Given the description of an element on the screen output the (x, y) to click on. 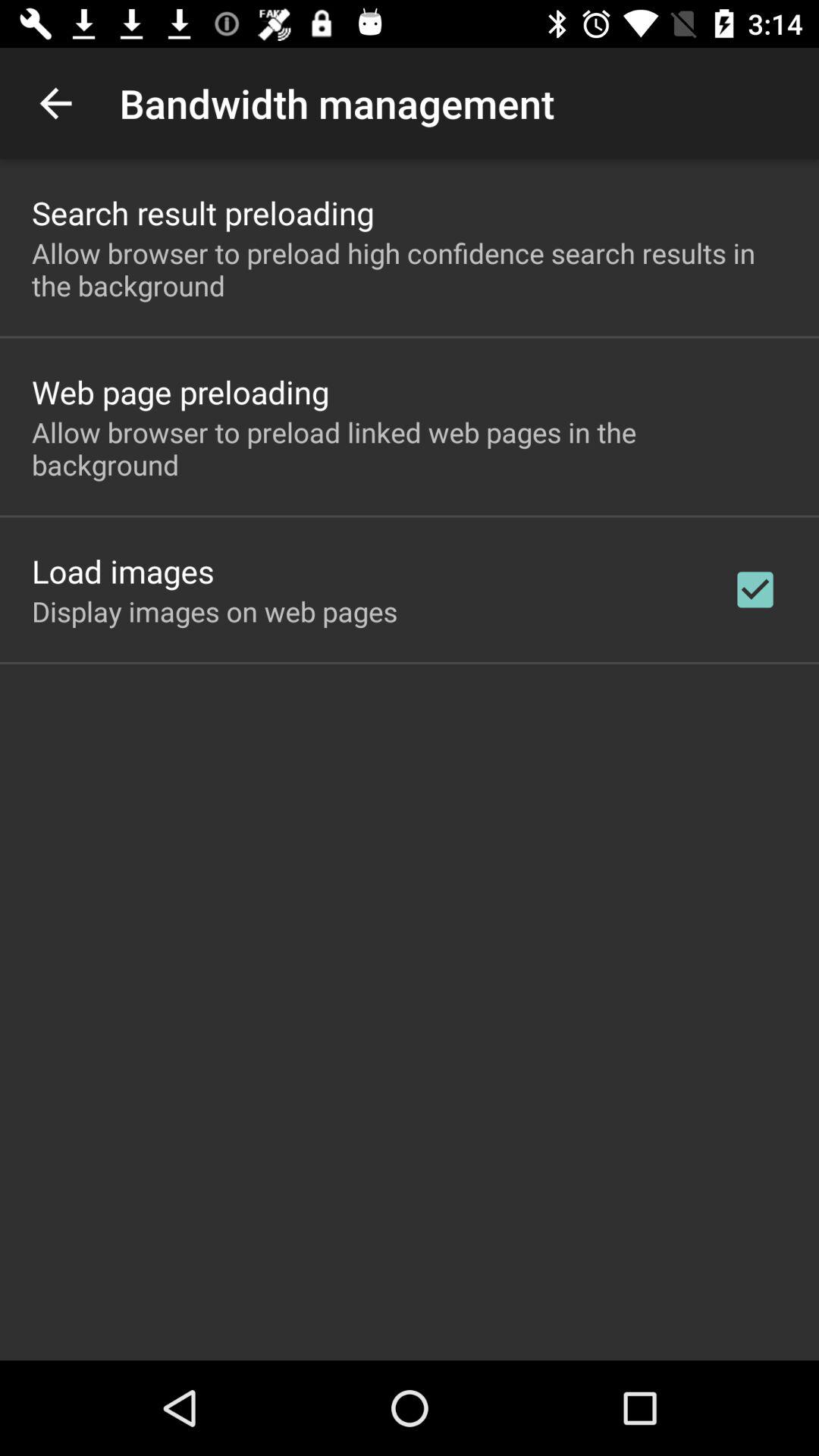
launch app below the allow browser to (122, 570)
